Given the description of an element on the screen output the (x, y) to click on. 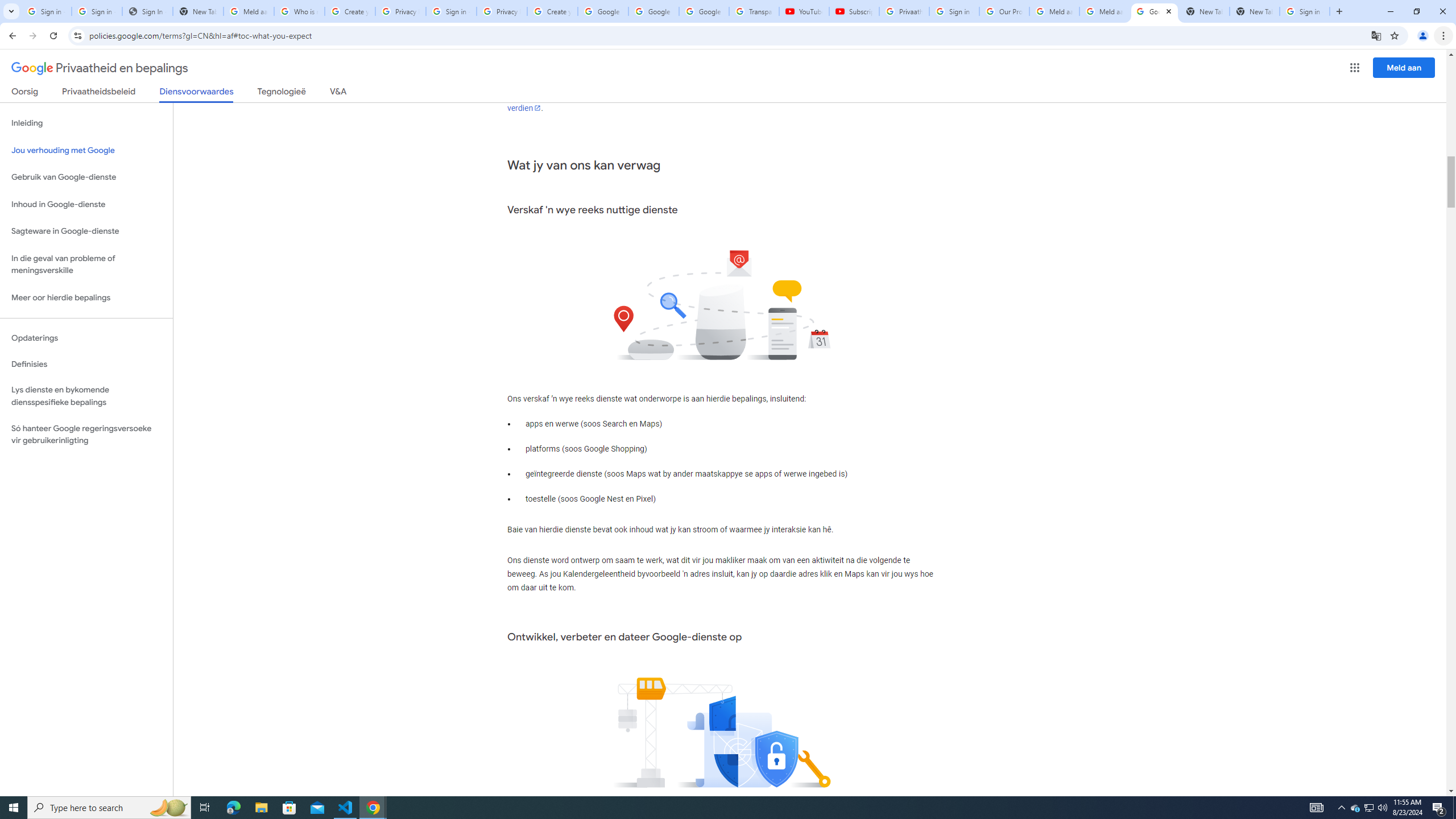
Definisies (86, 363)
Sign in - Google Accounts (450, 11)
Google Account (703, 11)
Meer oor hierdie bepalings (86, 298)
Gebruik van Google-dienste (86, 176)
Privaatheid en bepalings (99, 68)
YouTube (804, 11)
Inhoud in Google-dienste (86, 204)
Sign in - Google Accounts (97, 11)
